Given the description of an element on the screen output the (x, y) to click on. 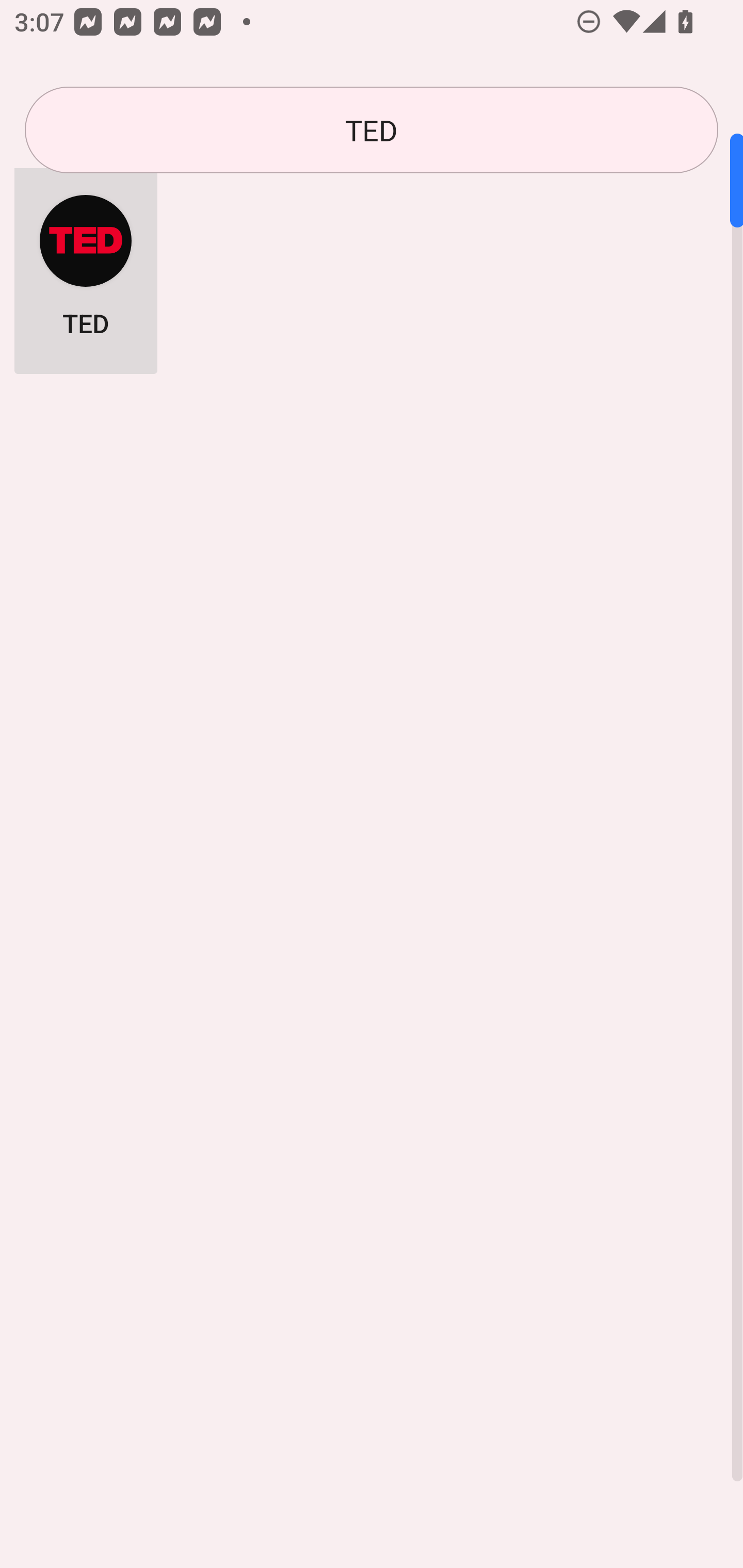
TED (371, 130)
TED (85, 264)
